Given the description of an element on the screen output the (x, y) to click on. 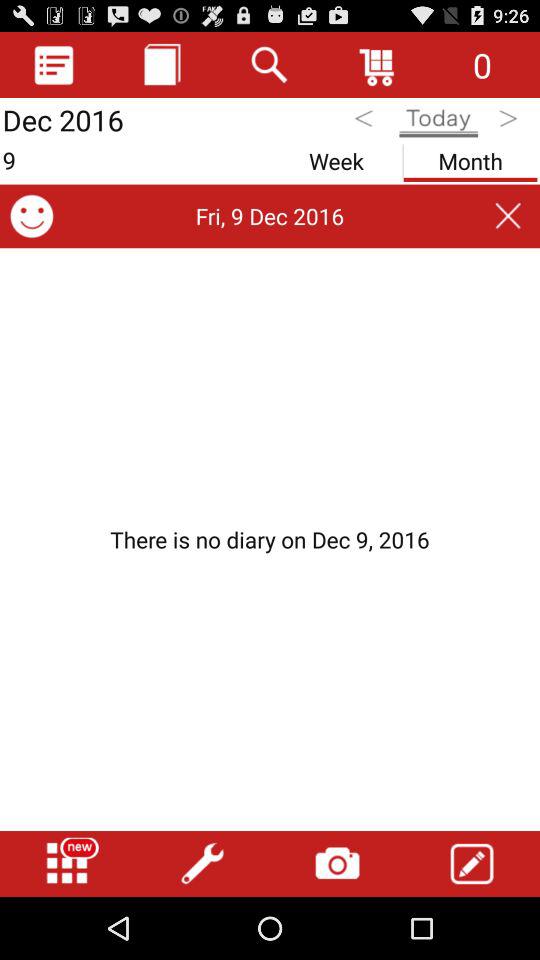
toggle list option (53, 64)
